Given the description of an element on the screen output the (x, y) to click on. 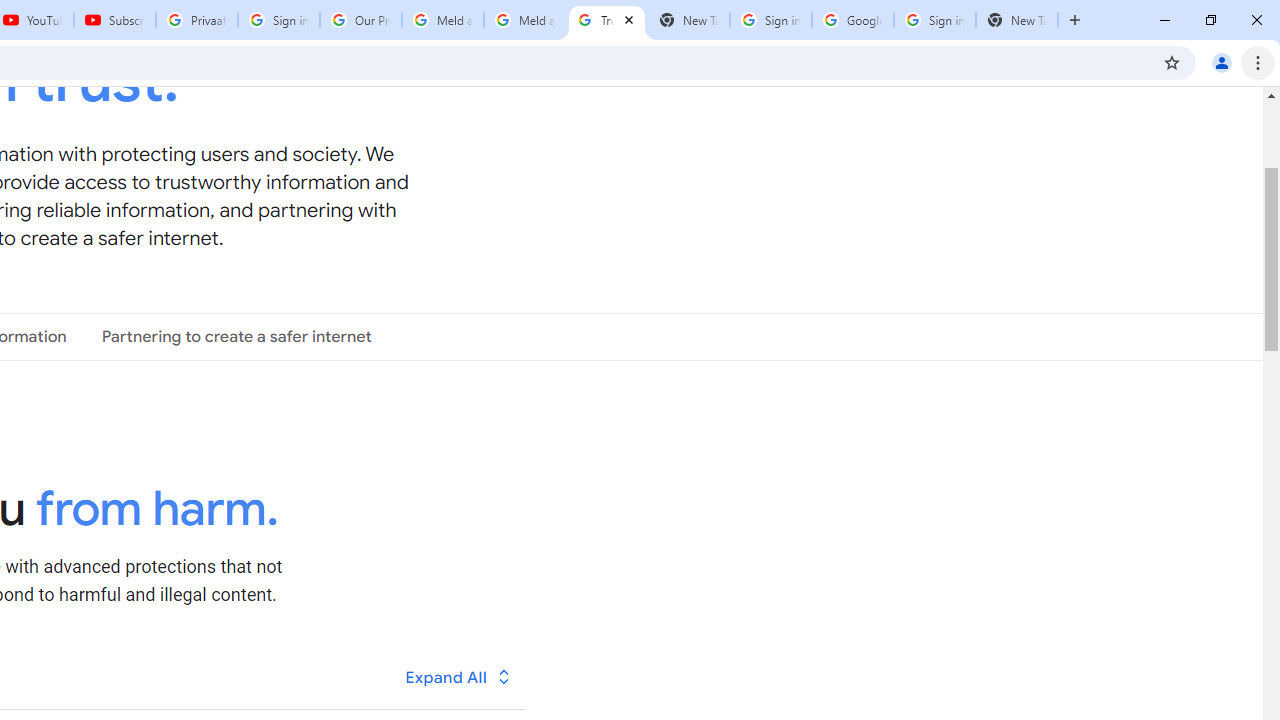
Sign in - Google Accounts (278, 20)
Partnering to create a safer internet (236, 336)
Sign in - Google Accounts (770, 20)
